Given the description of an element on the screen output the (x, y) to click on. 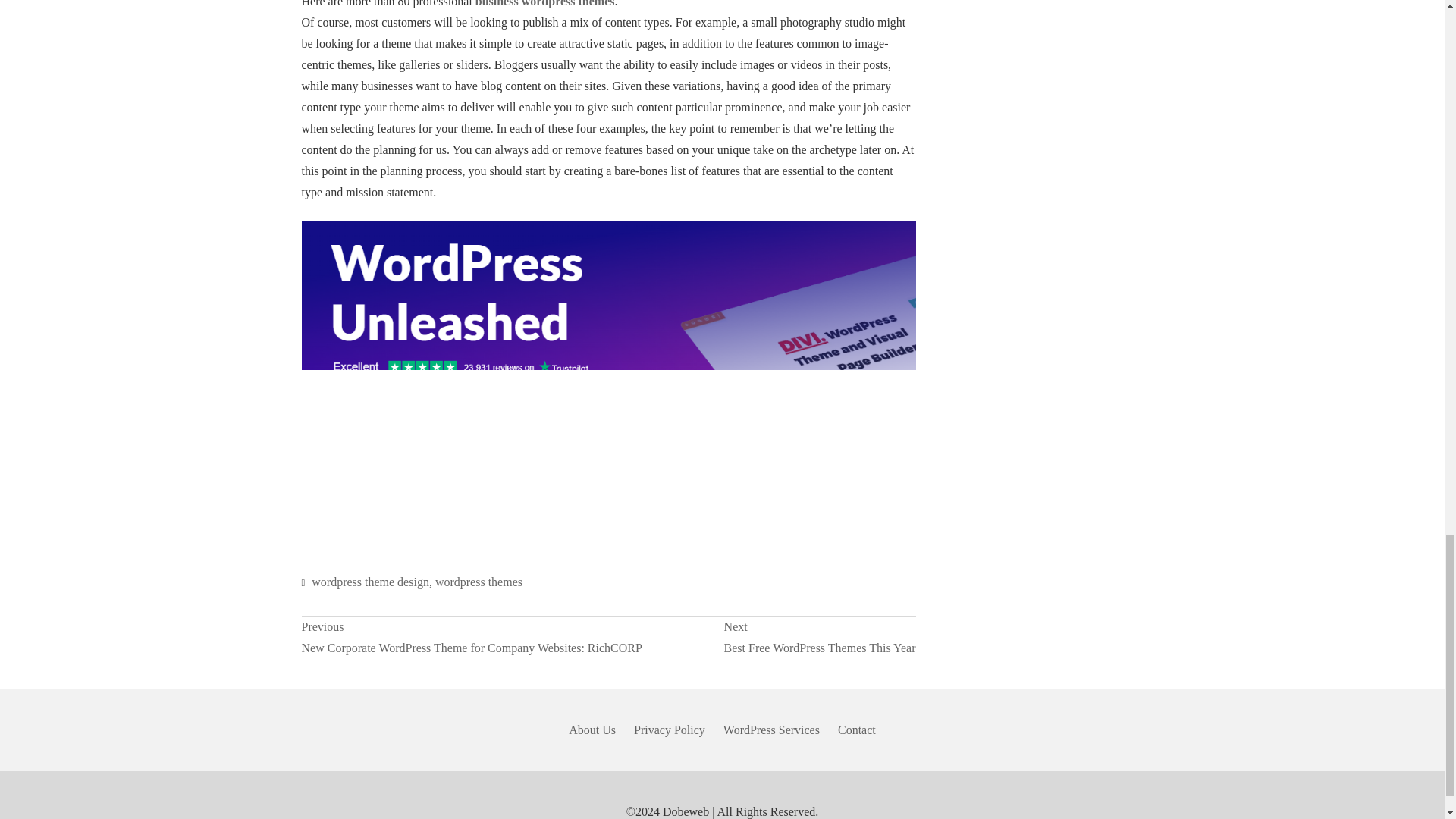
business wordpress themes (819, 637)
wordpress theme design (545, 3)
wordpress themes (370, 581)
